Given the description of an element on the screen output the (x, y) to click on. 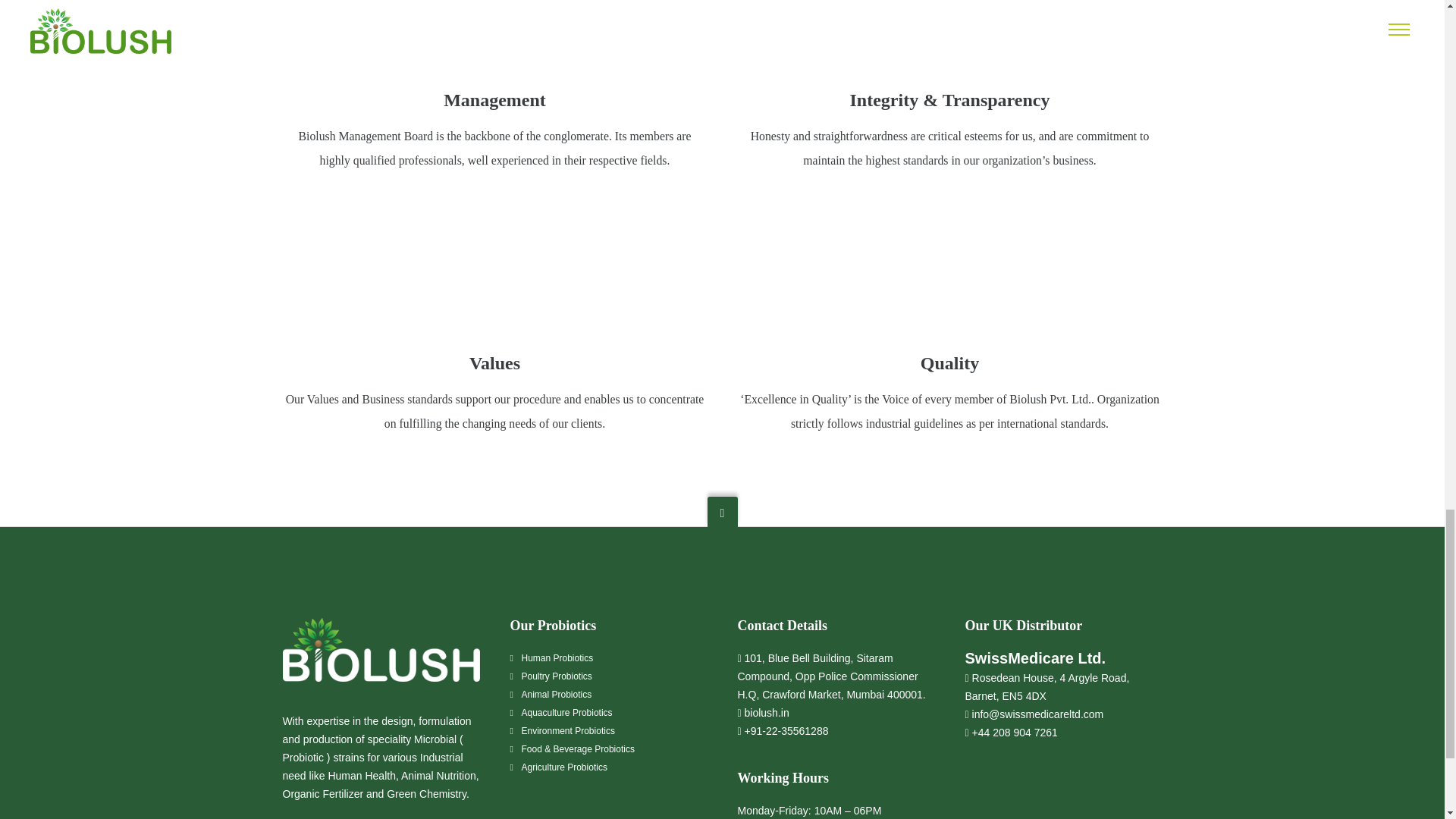
Agriculture Probiotics (564, 767)
Environment Probiotics (567, 730)
Human Probiotics (557, 657)
Aquaculture Probiotics (566, 712)
Poultry Probiotics (556, 675)
Animal Probiotics (556, 694)
